Given the description of an element on the screen output the (x, y) to click on. 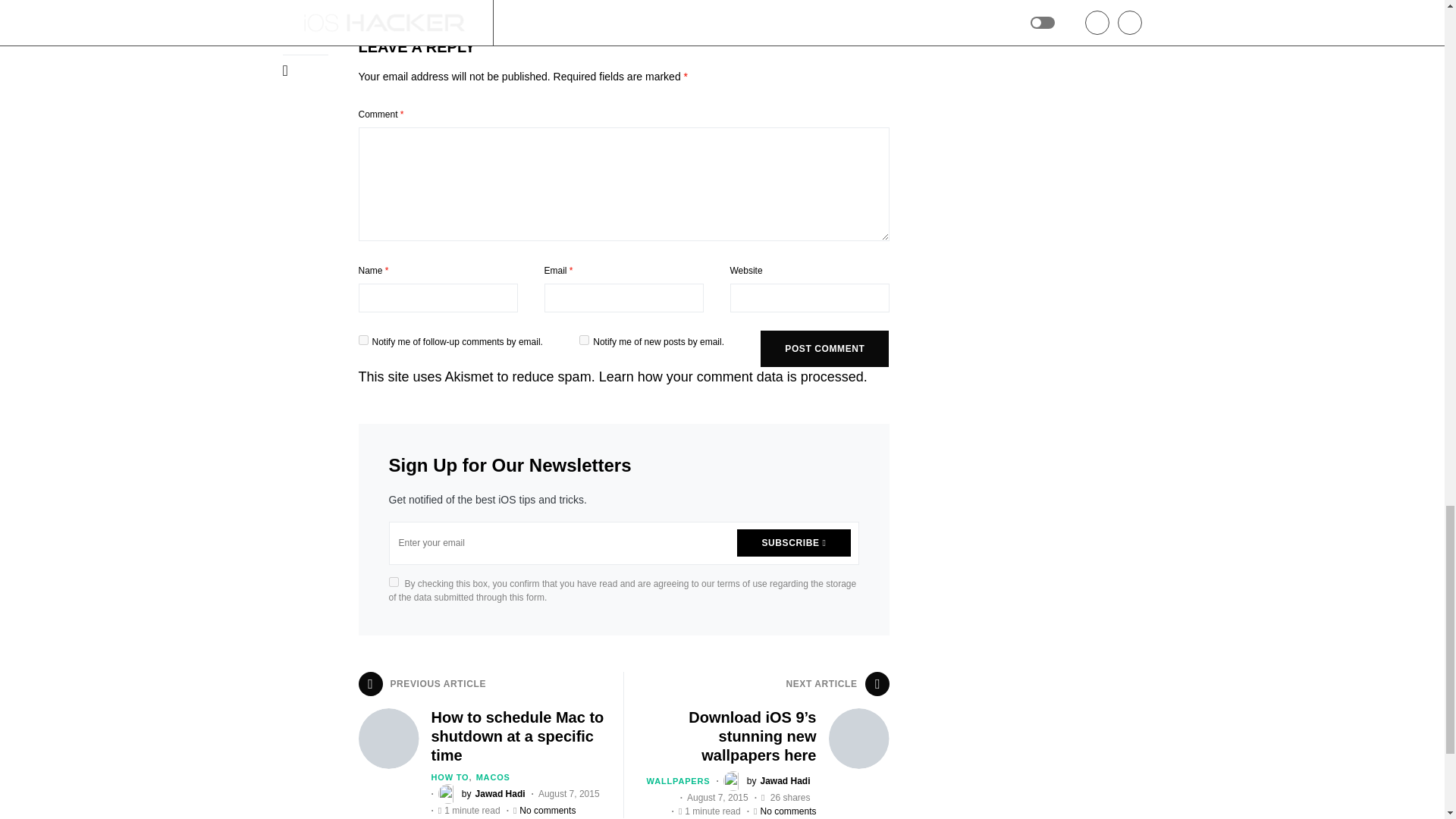
Post Comment (824, 348)
on (392, 581)
subscribe (363, 339)
View all posts by Jawad Hadi (766, 781)
View all posts by Jawad Hadi (481, 793)
subscribe (584, 339)
